Given the description of an element on the screen output the (x, y) to click on. 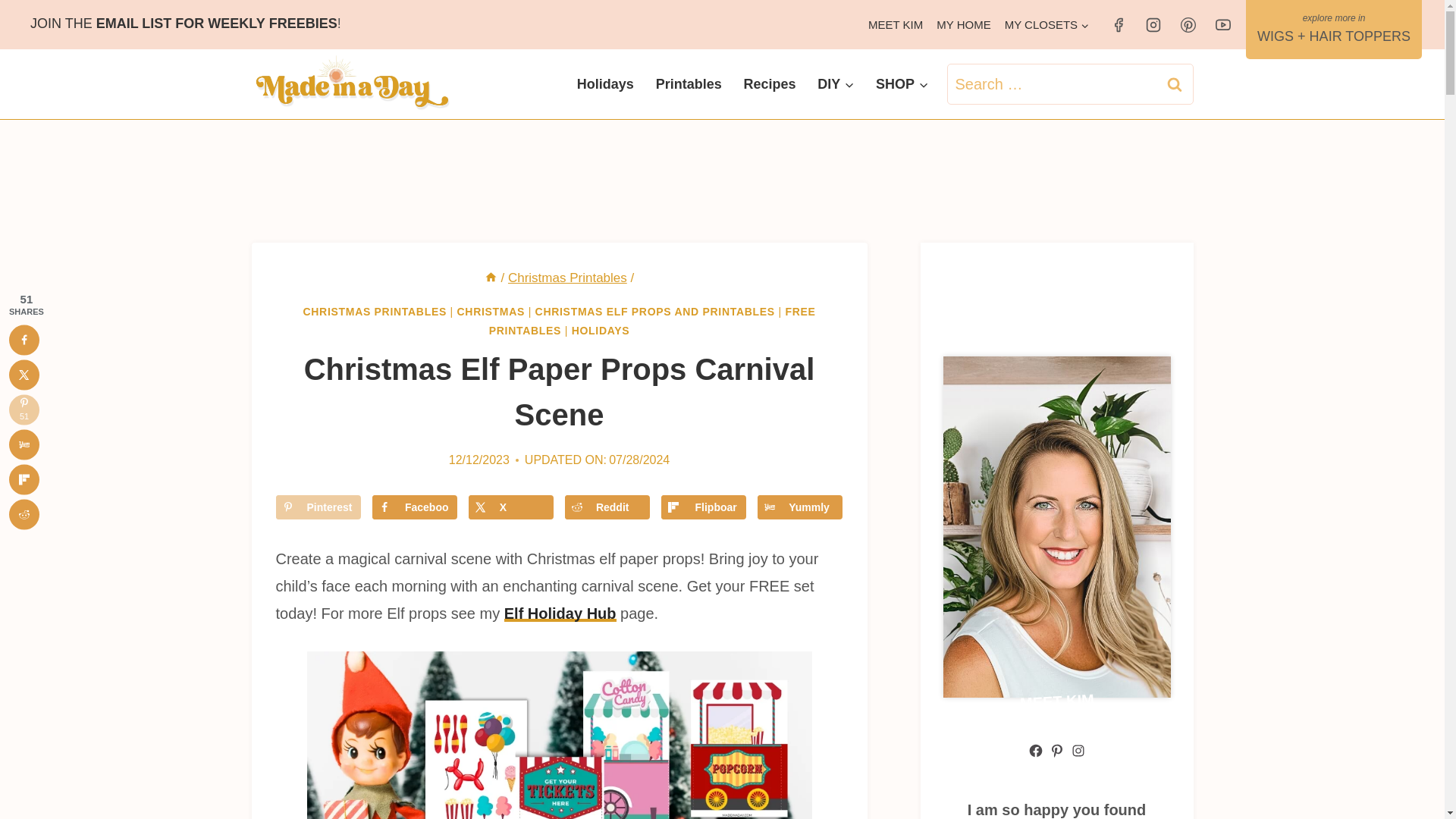
Search (1174, 83)
MY HOME (963, 24)
Holidays (605, 83)
Share on Facebook (414, 507)
Save to Pinterest (318, 507)
Facebook (414, 507)
FREE PRINTABLES (652, 320)
Share on Reddit (606, 507)
JOIN THE EMAIL LIST FOR WEEKLY FREEBIES (183, 23)
HOLIDAYS (601, 330)
